Given the description of an element on the screen output the (x, y) to click on. 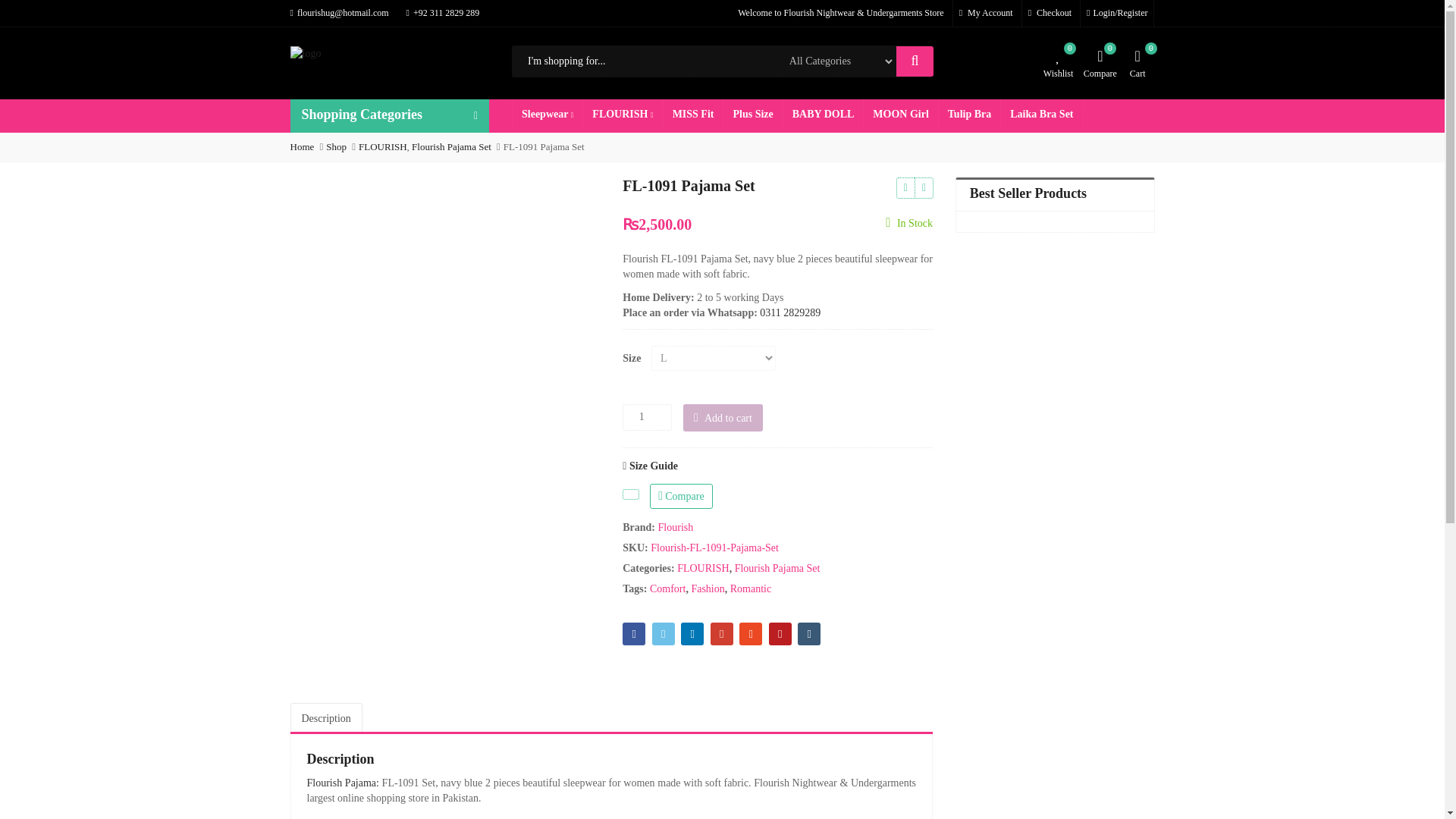
Share on LinkedIn (692, 633)
Share on Facebook (634, 633)
Share on Google Plus (721, 633)
1 (647, 417)
Go to Home Page (301, 146)
Share on Stumbleupon (750, 633)
Share on Tumblr (809, 633)
Qty (647, 417)
Share on Pinterest (780, 633)
Share on Twitter (663, 633)
